Given the description of an element on the screen output the (x, y) to click on. 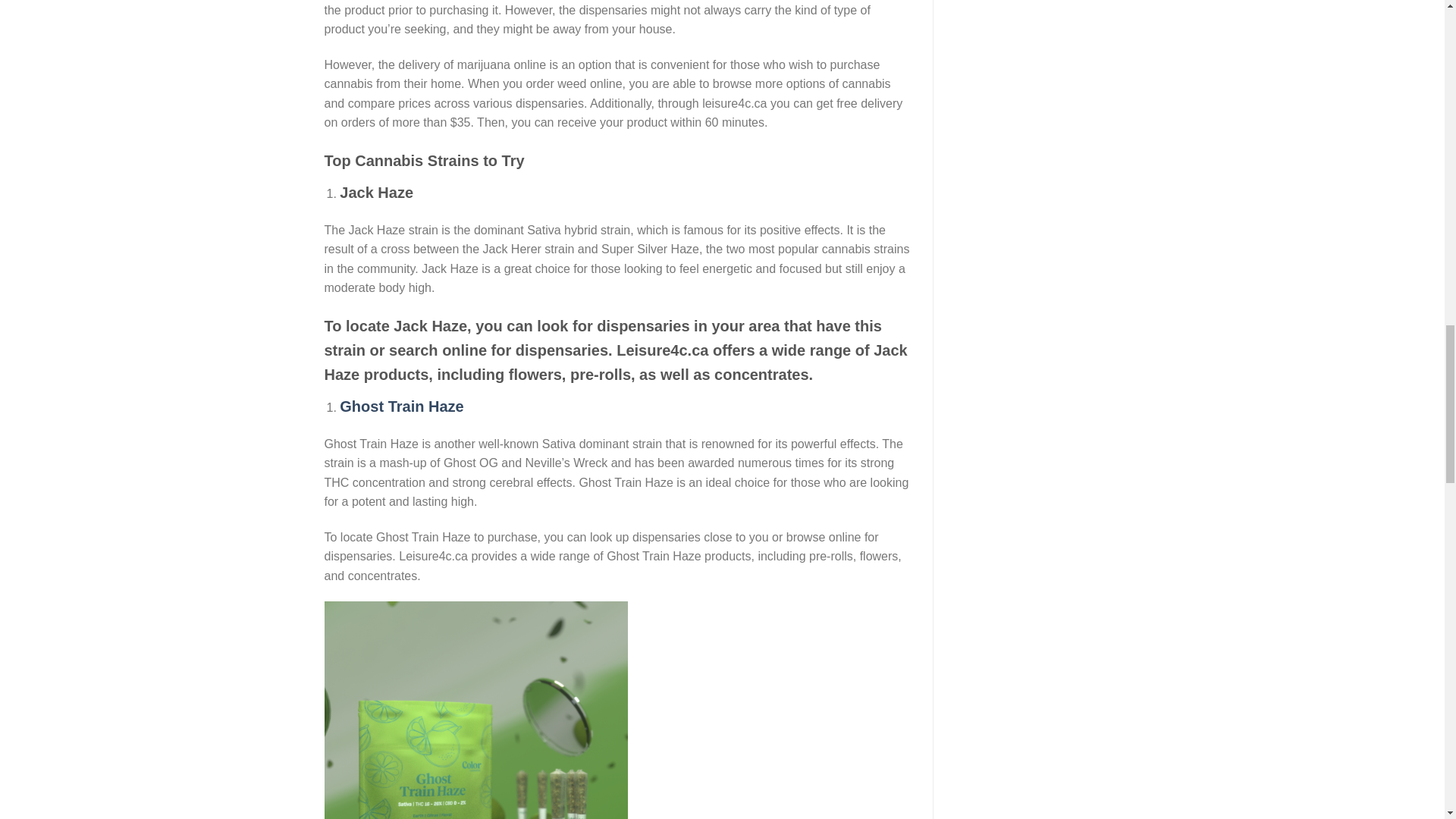
Ghost Train Haze (401, 406)
